Given the description of an element on the screen output the (x, y) to click on. 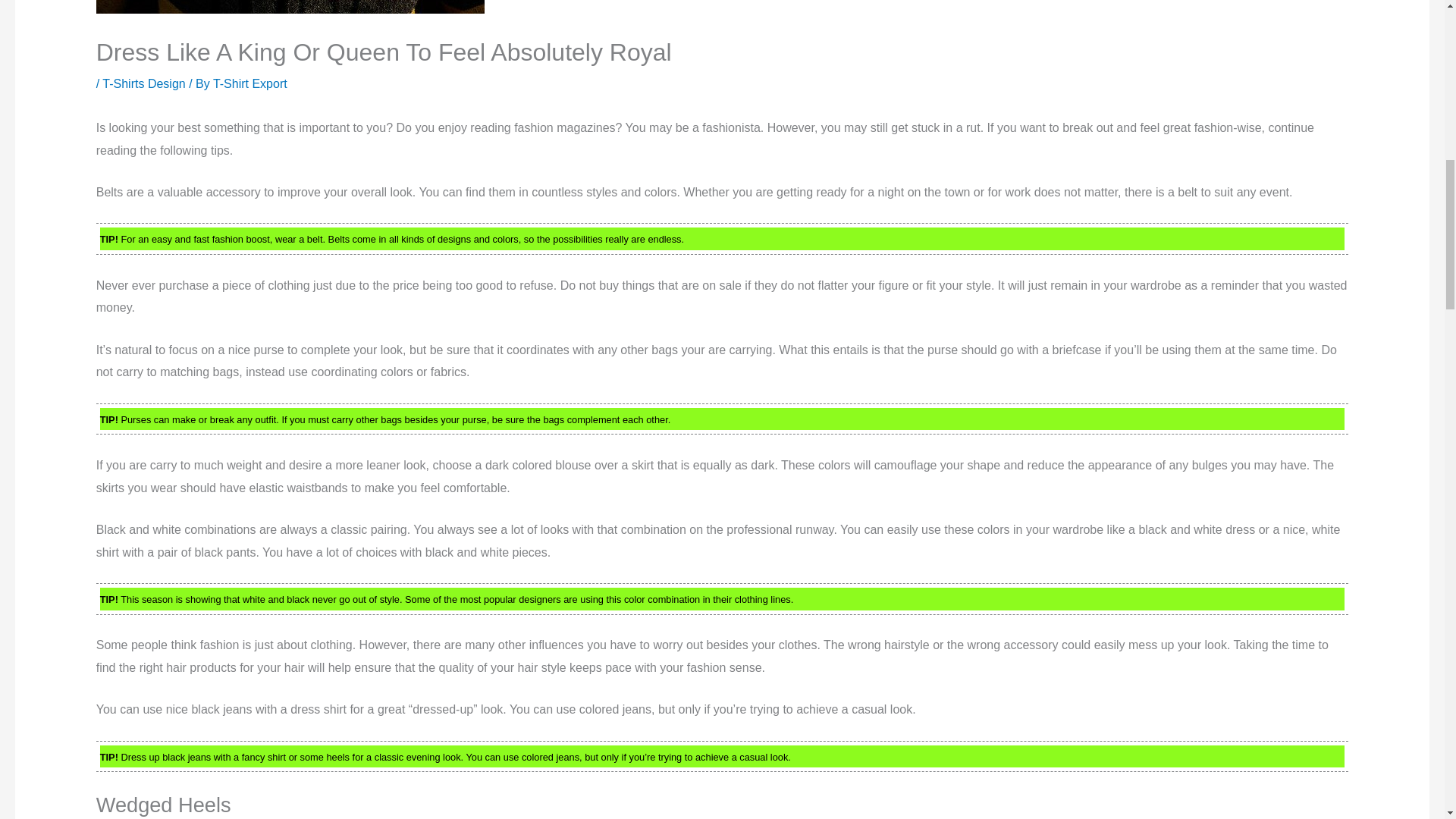
View all posts by T-Shirt Export (249, 83)
T-Shirt Export (249, 83)
T-Shirts Design (142, 83)
